Given the description of an element on the screen output the (x, y) to click on. 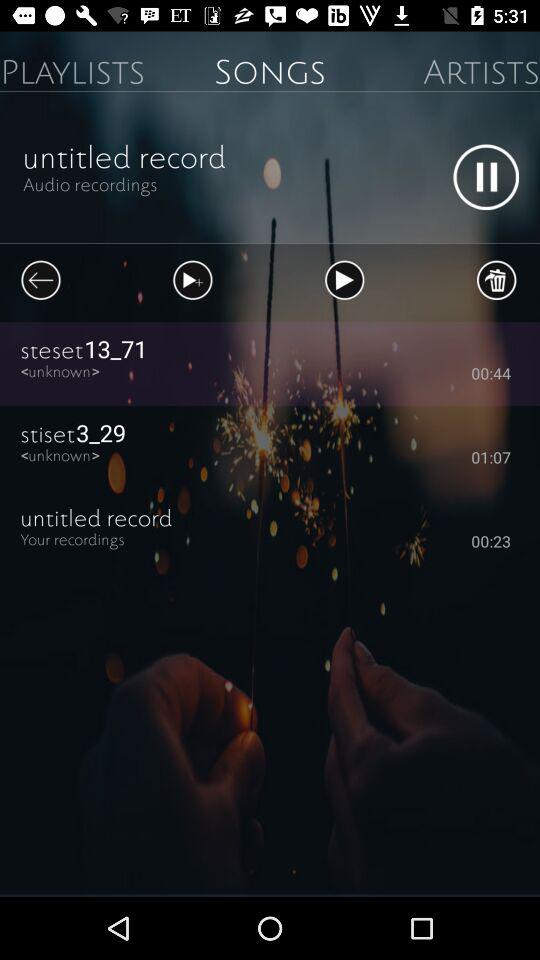
pause (486, 177)
